Given the description of an element on the screen output the (x, y) to click on. 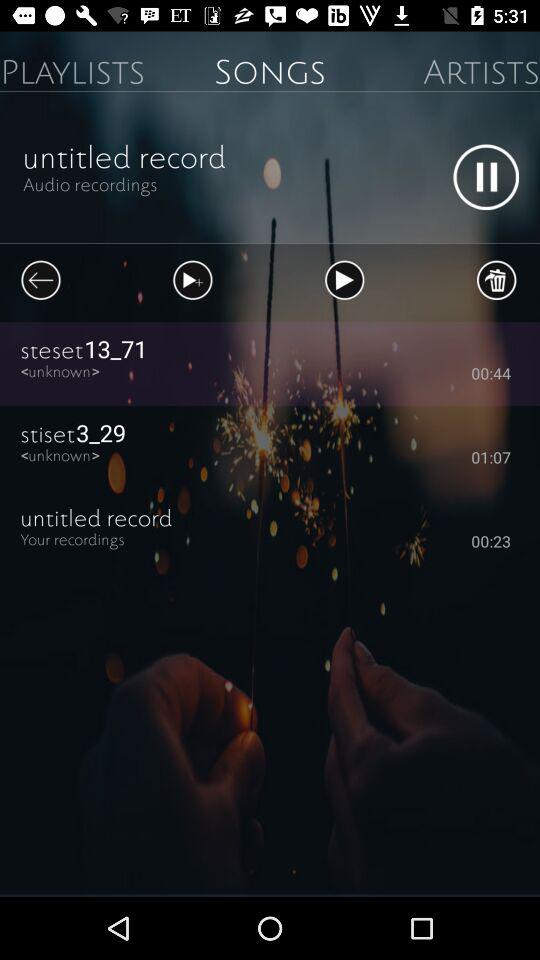
pause (486, 177)
